Given the description of an element on the screen output the (x, y) to click on. 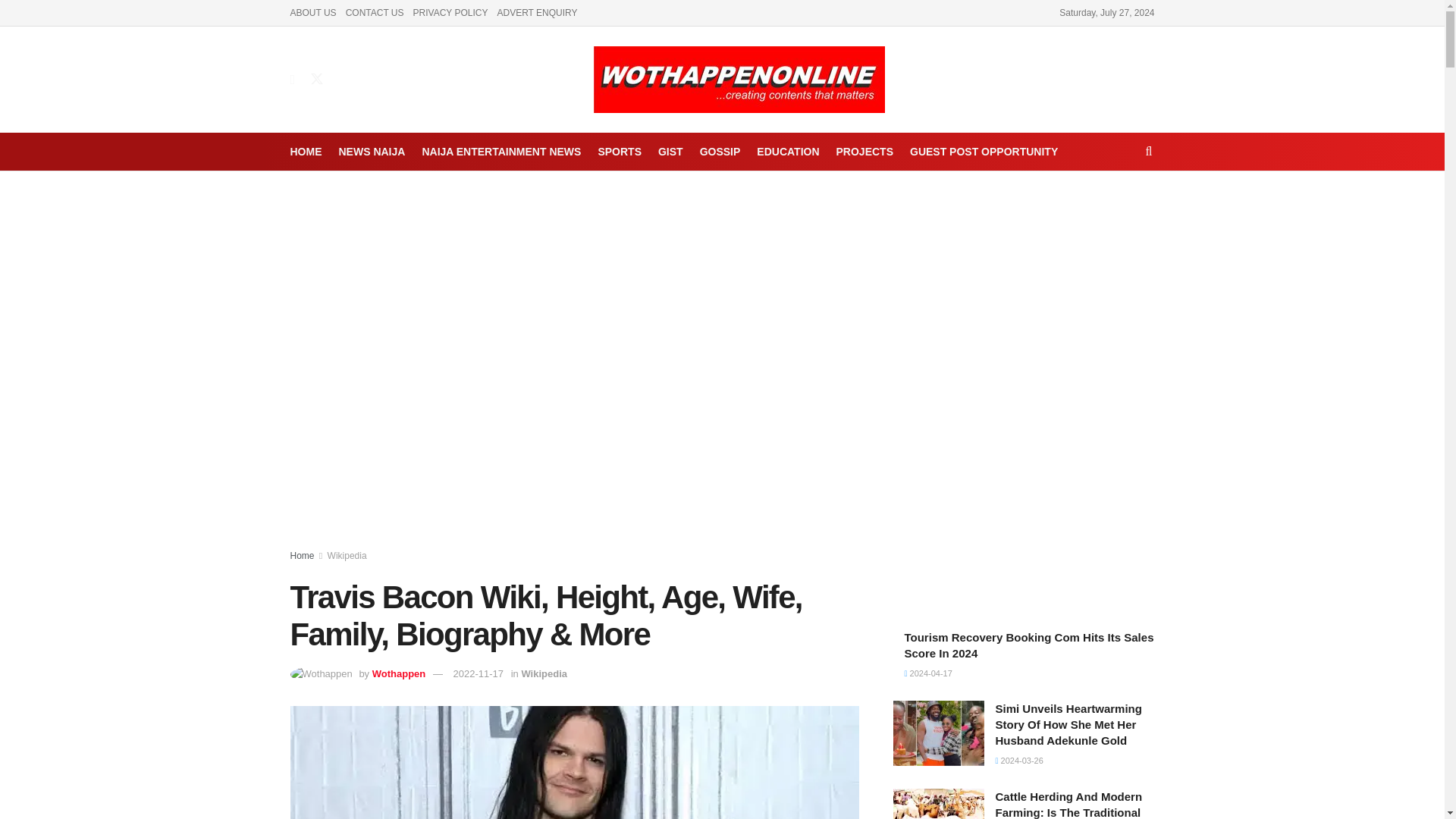
ADVERT ENQUIRY (536, 12)
GUEST POST OPPORTUNITY (984, 151)
PROJECTS (864, 151)
Advertisement (1023, 287)
HOME (305, 151)
Advertisement (1023, 504)
ABOUT US (312, 12)
SPORTS (619, 151)
NAIJA ENTERTAINMENT NEWS (501, 151)
PRIVACY POLICY (450, 12)
CONTACT US (375, 12)
GOSSIP (720, 151)
EDUCATION (787, 151)
NEWS NAIJA (370, 151)
